Given the description of an element on the screen output the (x, y) to click on. 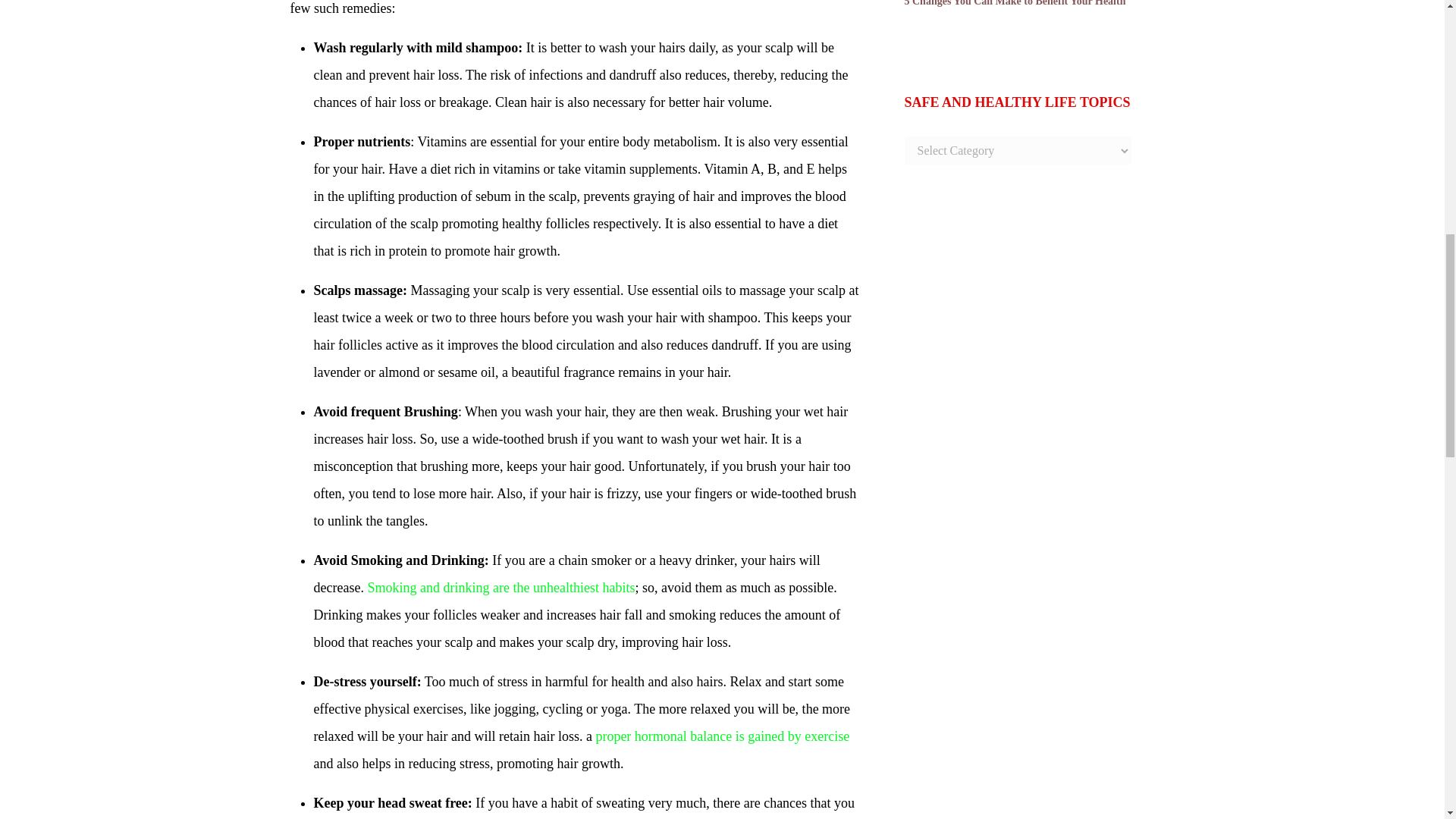
proper hormonal balance is gained by exercise (721, 735)
Smoking and drinking are the unhealthiest habits (500, 587)
